Given the description of an element on the screen output the (x, y) to click on. 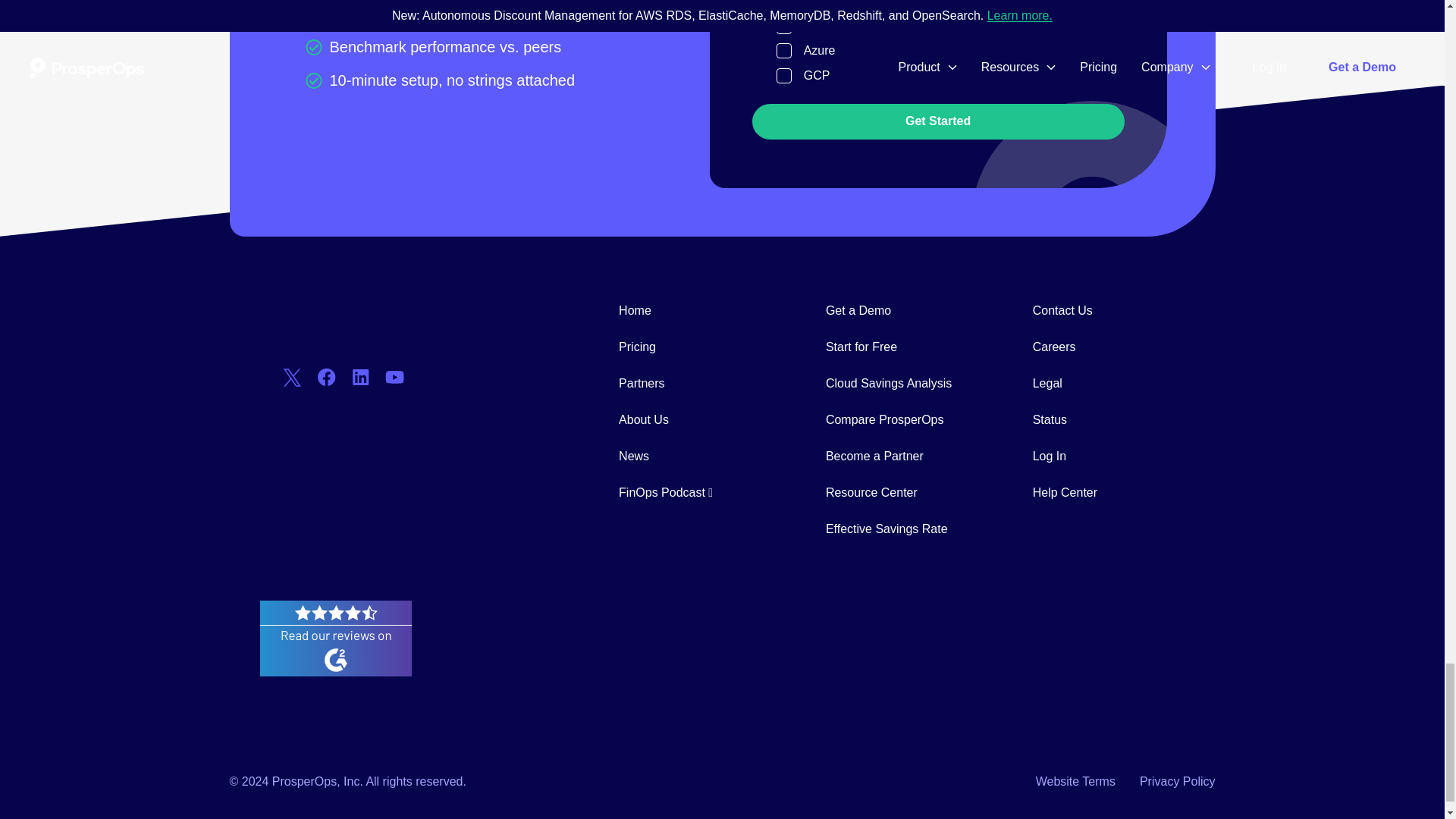
AWS (784, 26)
Azure (784, 50)
GCP (784, 75)
Read reviews of ProsperOps on G2 (334, 670)
Get Started (938, 121)
